Given the description of an element on the screen output the (x, y) to click on. 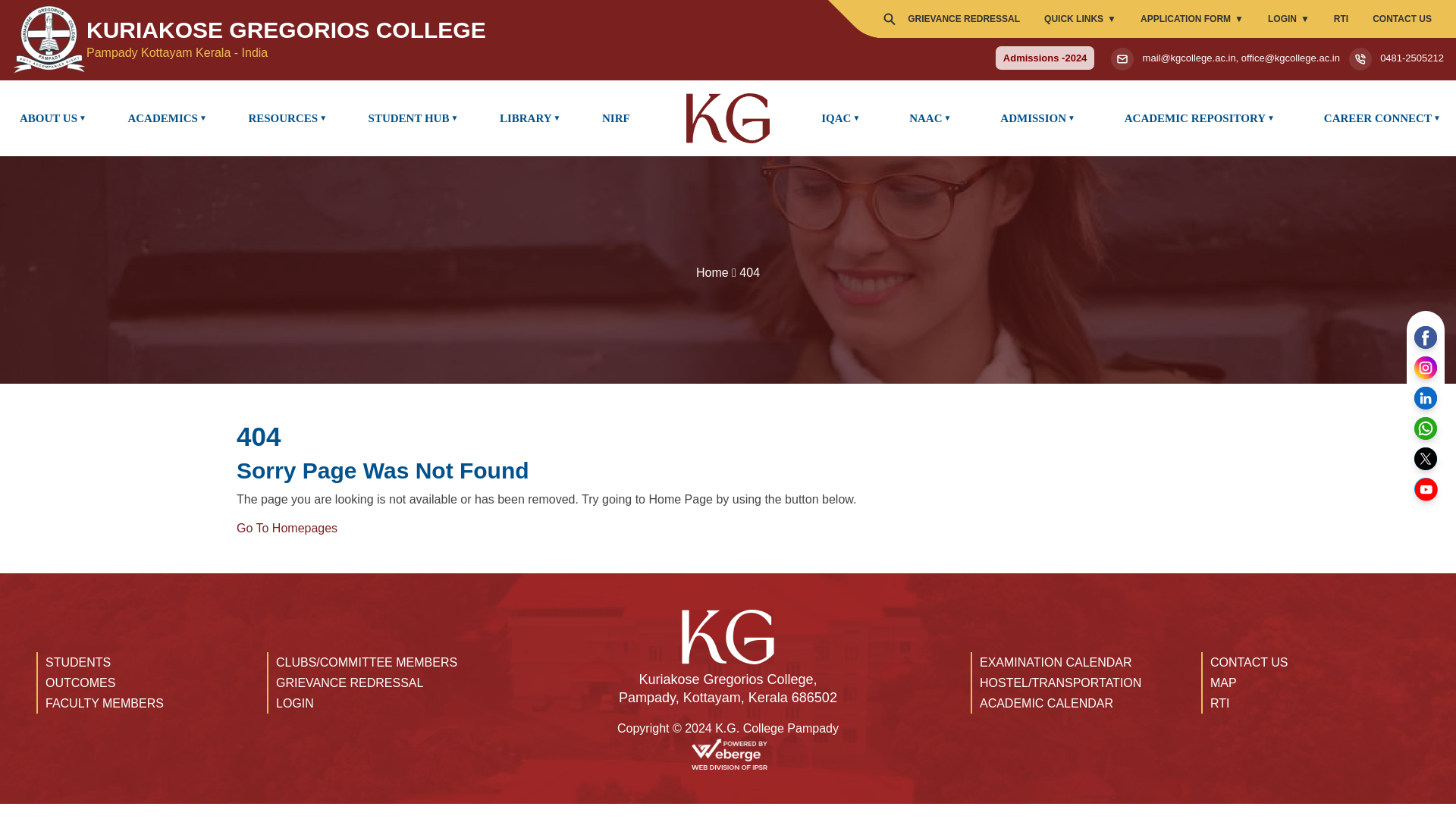
QUICK LINKS (1080, 18)
CONTACT US (1401, 18)
GRIEVANCE REDRESSAL (963, 18)
LOGIN (1288, 18)
APPLICATION FORM (1191, 18)
RTI (299, 40)
ABOUT US (1340, 18)
Admissions -2024 (49, 118)
0481-2505212 (1044, 57)
